Given the description of an element on the screen output the (x, y) to click on. 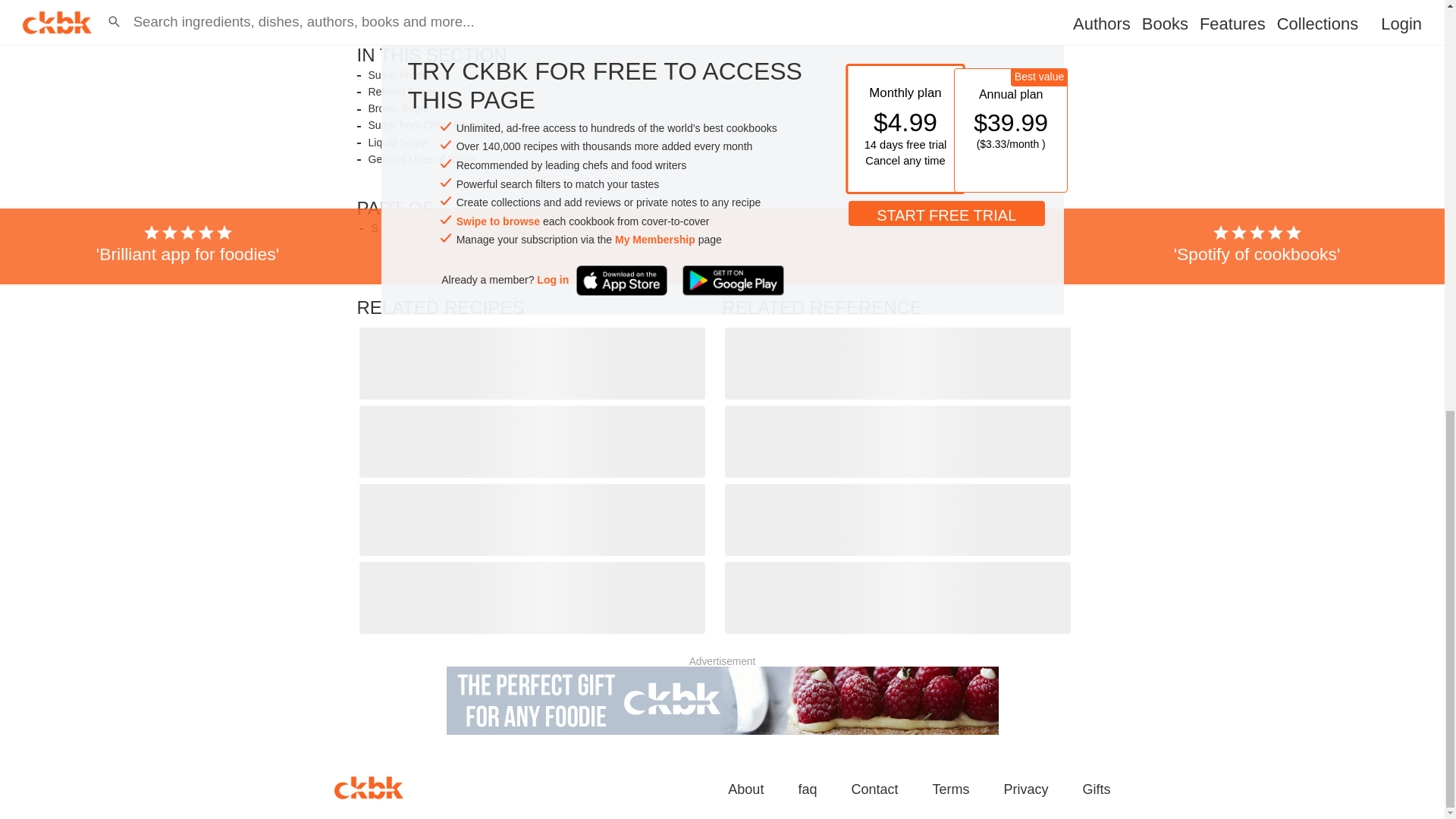
Sugar from Other Sources (430, 124)
Liquid Sugar (398, 142)
Sugar Production (408, 74)
Brown Sugar (398, 108)
Refined Sugar (402, 91)
